Given the description of an element on the screen output the (x, y) to click on. 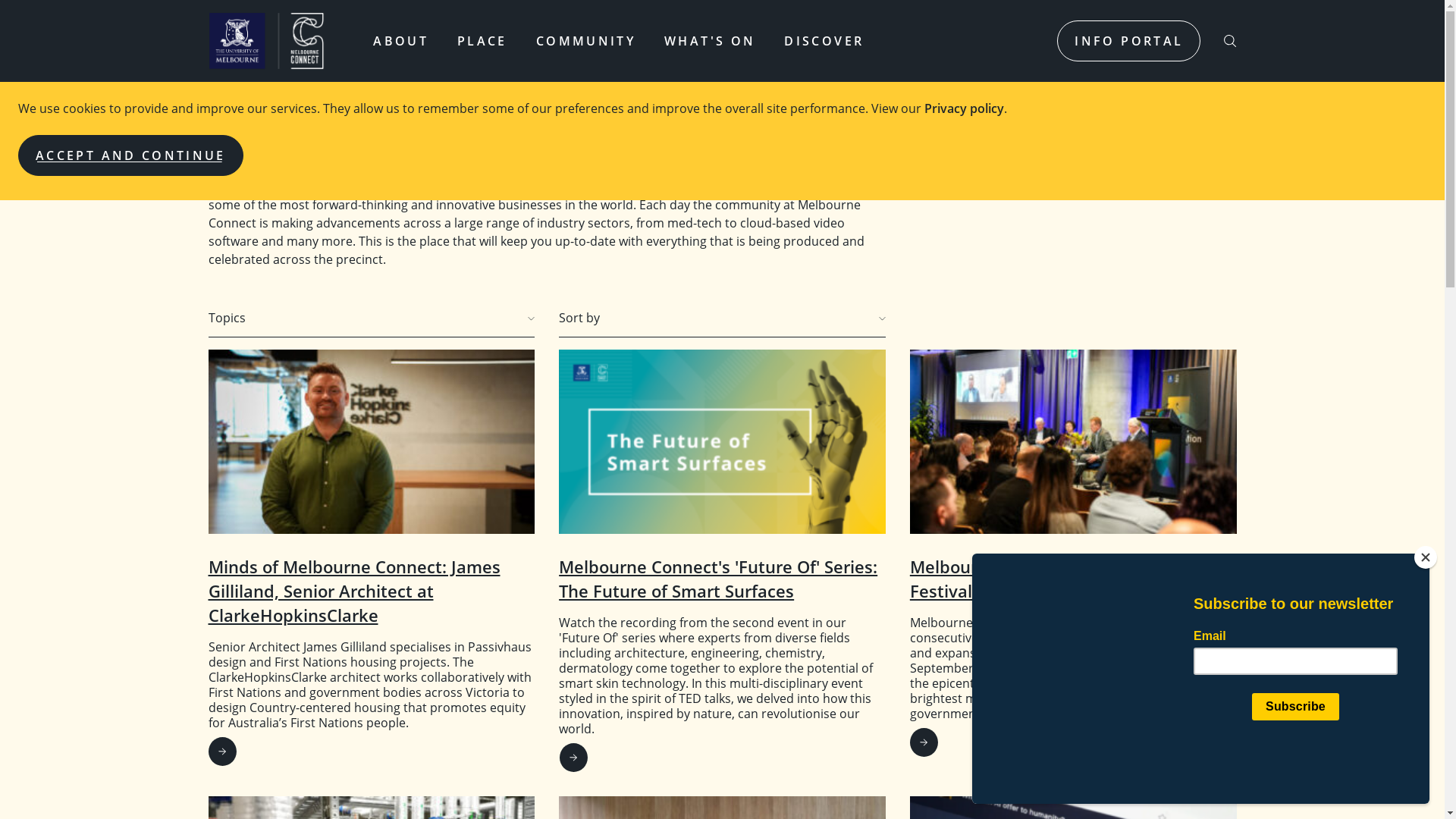
ACCEPT AND CONTINUE Element type: text (130, 154)
Privacy policy Element type: text (964, 108)
INFO PORTAL Element type: text (1128, 40)
WHAT'S ON Element type: text (709, 43)
ABOUT Element type: text (400, 43)
DISCOVER Element type: text (823, 43)
